Given the description of an element on the screen output the (x, y) to click on. 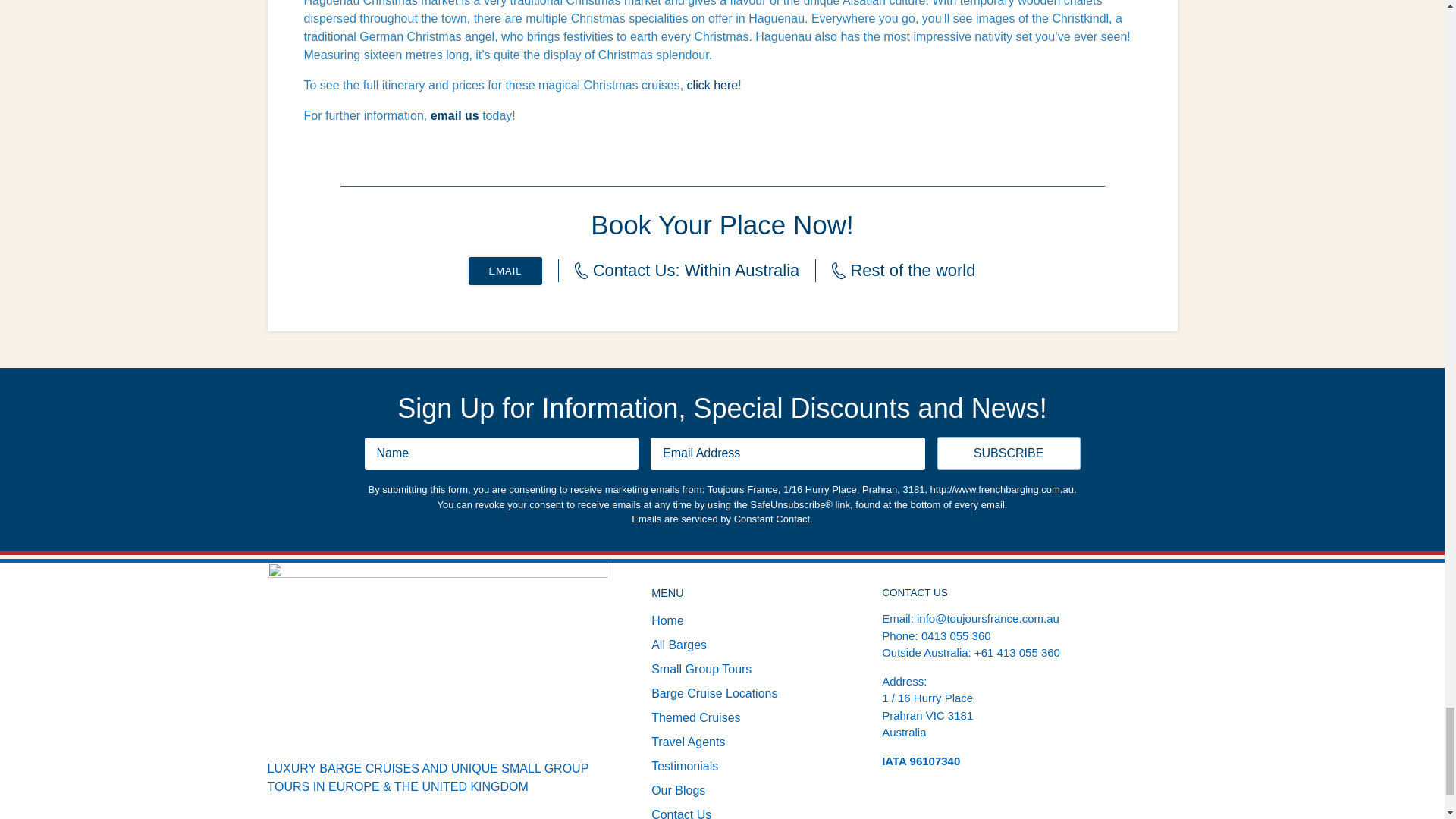
Small Group Tours (700, 668)
Subscribe (1008, 453)
email us (454, 115)
Travel Agents (687, 741)
Barge Cruise Locations (713, 693)
Contact Us: Within Australia (673, 270)
click here (712, 84)
Rest of the world (889, 270)
All Barges (678, 644)
Themed Cruises (694, 717)
